Given the description of an element on the screen output the (x, y) to click on. 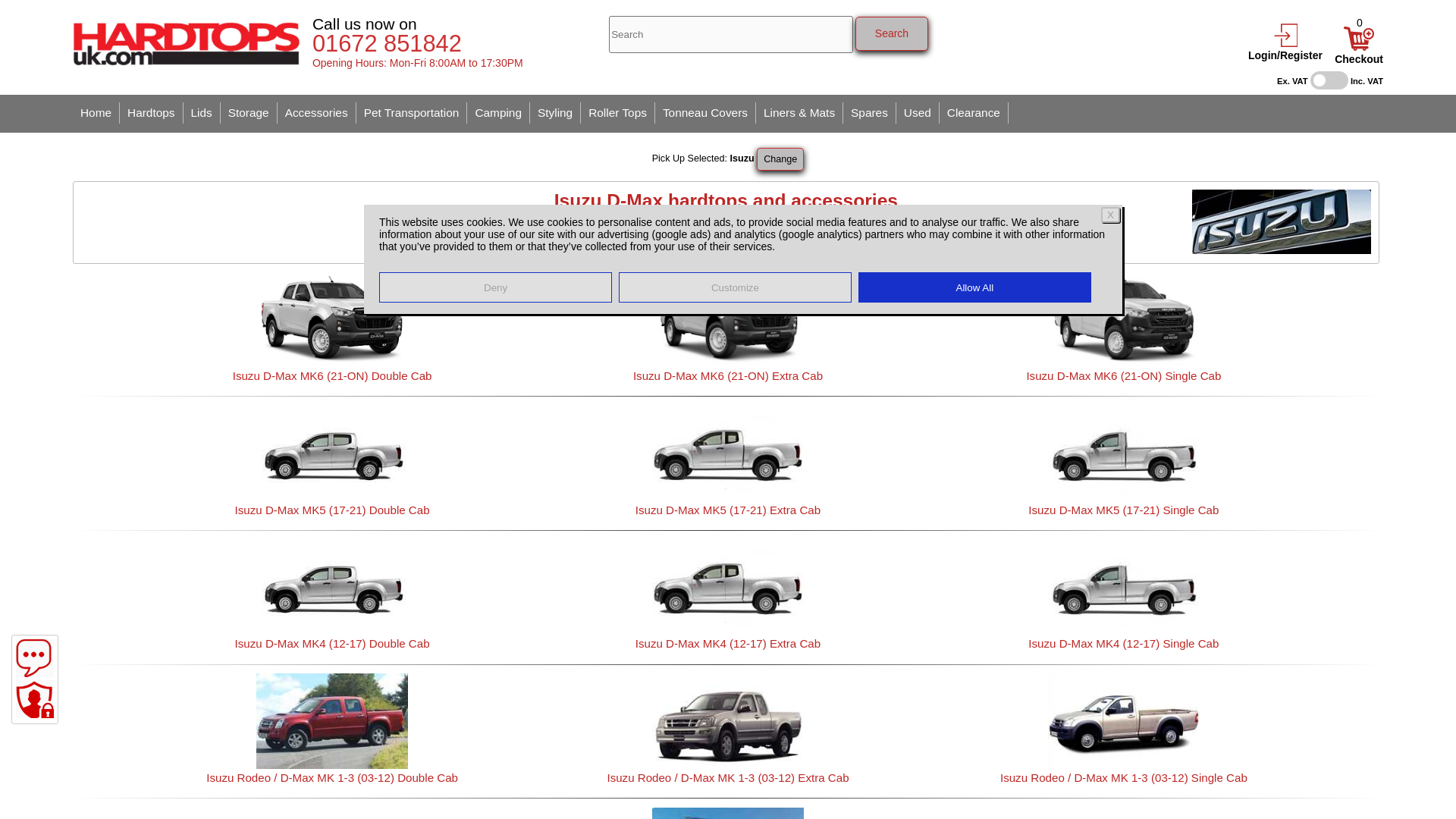
Accessories (317, 112)
Accessories (317, 112)
Roller Tops (617, 112)
Pet Transportation (411, 112)
Deny (494, 286)
Spares (869, 112)
Hardtops (151, 112)
Hardtops (151, 112)
Styling (554, 112)
Customize (734, 286)
Camping (498, 112)
Clearance (974, 112)
X (1109, 214)
Camping (498, 112)
Roller Tops (617, 112)
